Given the description of an element on the screen output the (x, y) to click on. 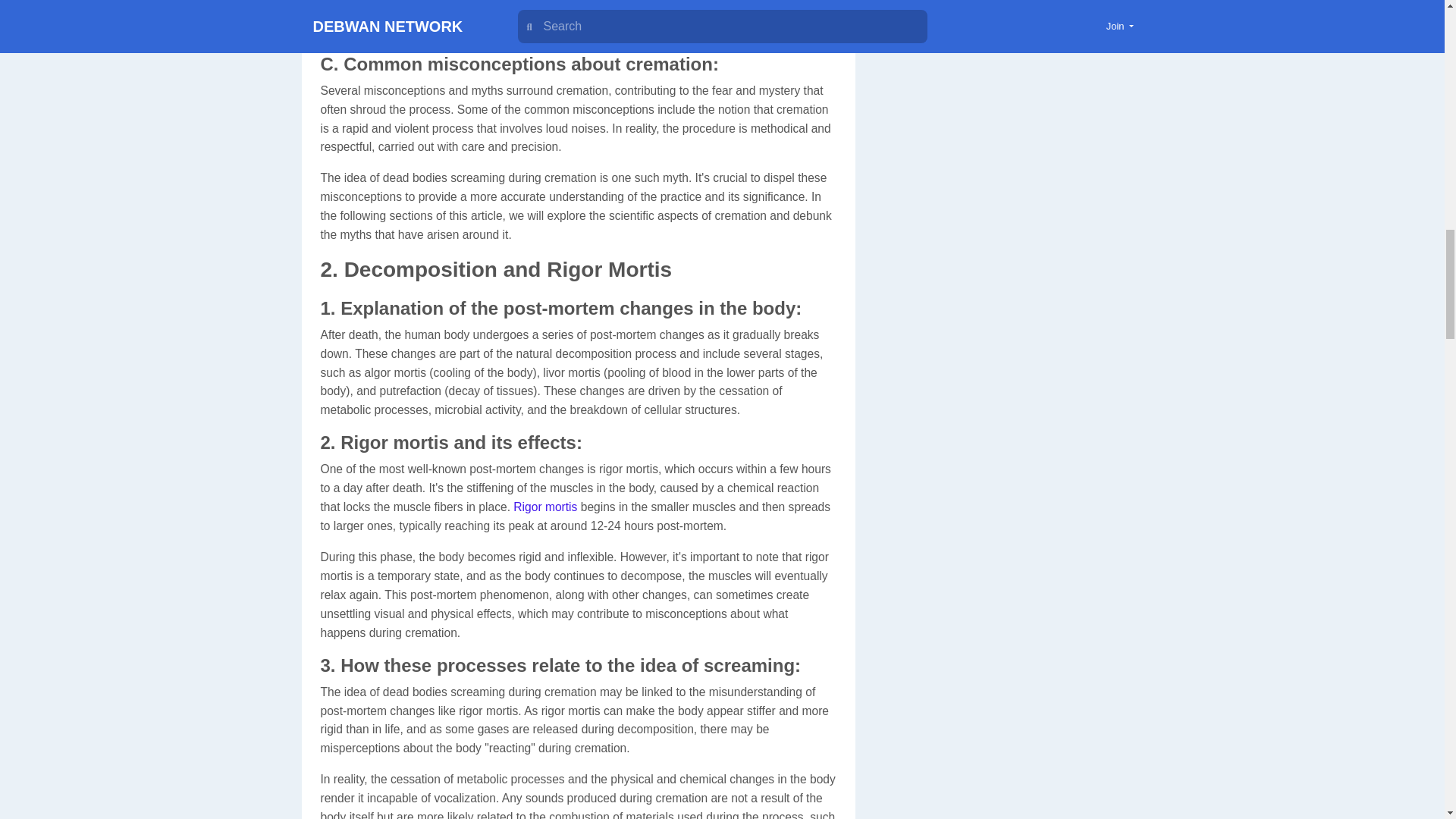
Rigor mortis (544, 506)
